Given the description of an element on the screen output the (x, y) to click on. 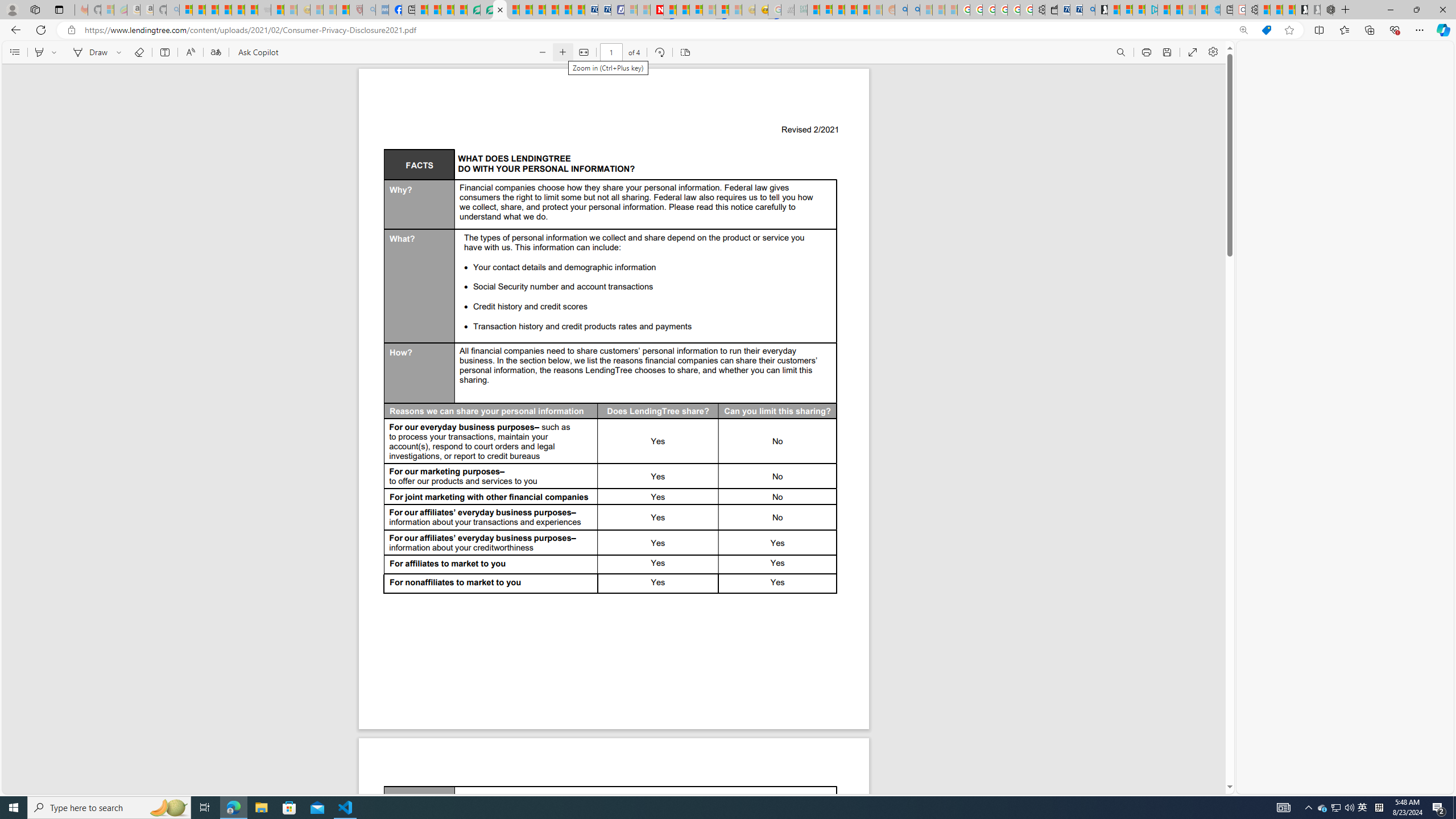
Zoom: 110% (1243, 29)
Select ink properties (120, 52)
Add text (164, 52)
Cheap Hotels - Save70.com (603, 9)
